Given the description of an element on the screen output the (x, y) to click on. 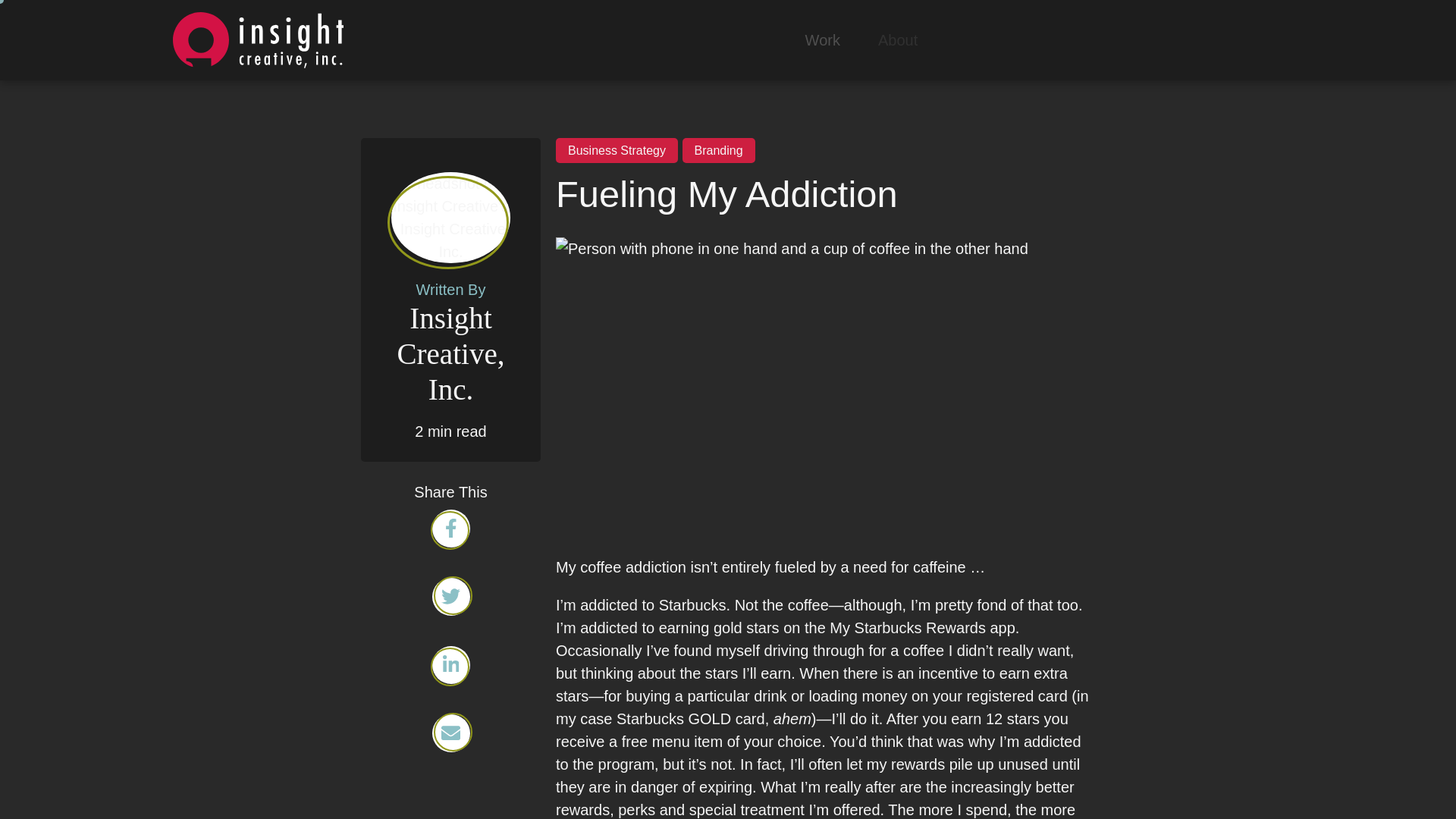
Work (822, 39)
Share on Facebook (451, 528)
About (897, 39)
Tweet (451, 596)
Send email (451, 733)
Business Strategy (617, 150)
Share on LinkedIn (451, 664)
